Given the description of an element on the screen output the (x, y) to click on. 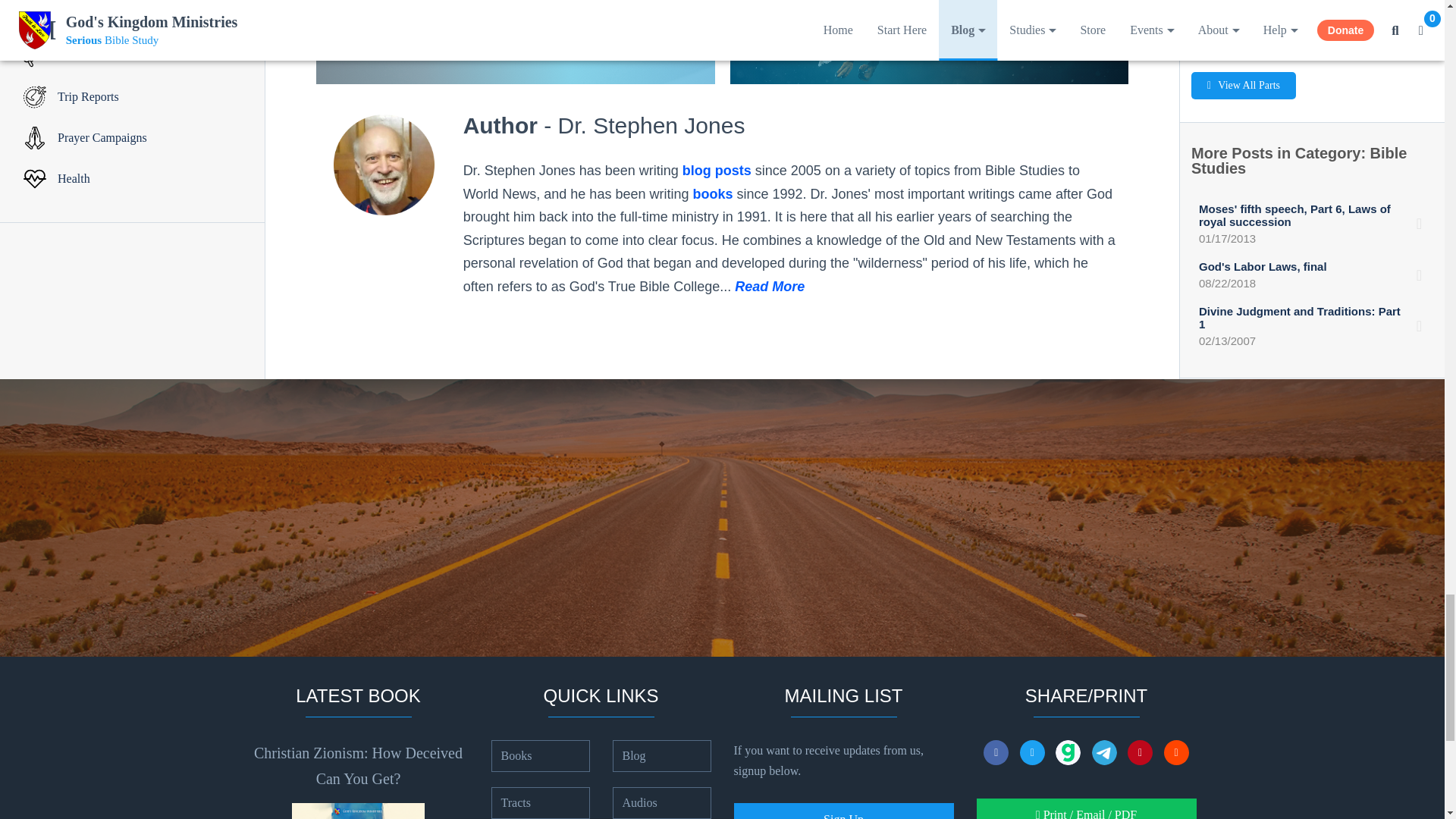
Printer Friendly and PDF (1086, 808)
